Given the description of an element on the screen output the (x, y) to click on. 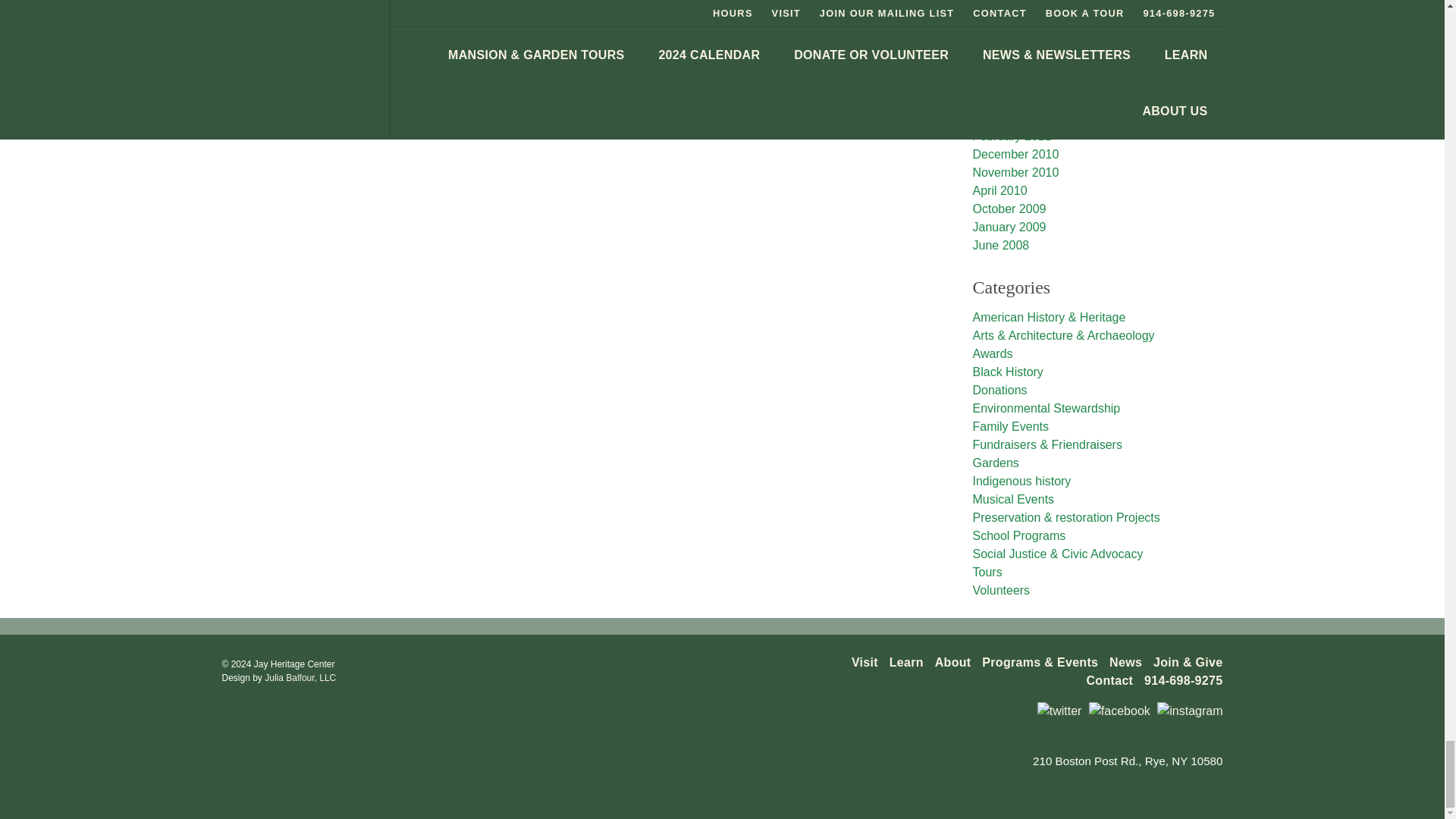
Instagram (1190, 710)
Twitter (1058, 710)
Facebook (1119, 710)
